Given the description of an element on the screen output the (x, y) to click on. 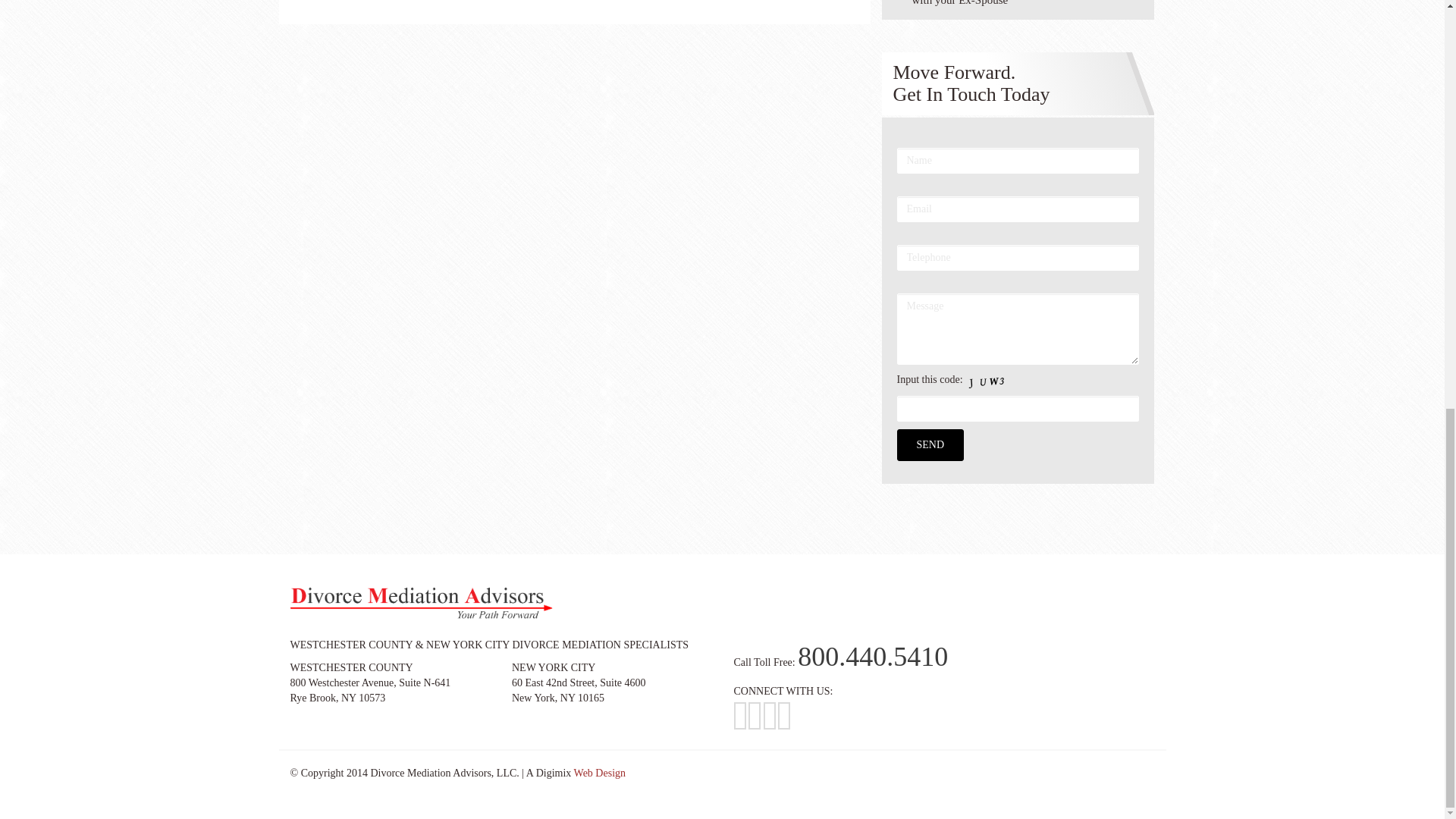
Send (929, 445)
Send (929, 445)
Web Design (599, 772)
